Given the description of an element on the screen output the (x, y) to click on. 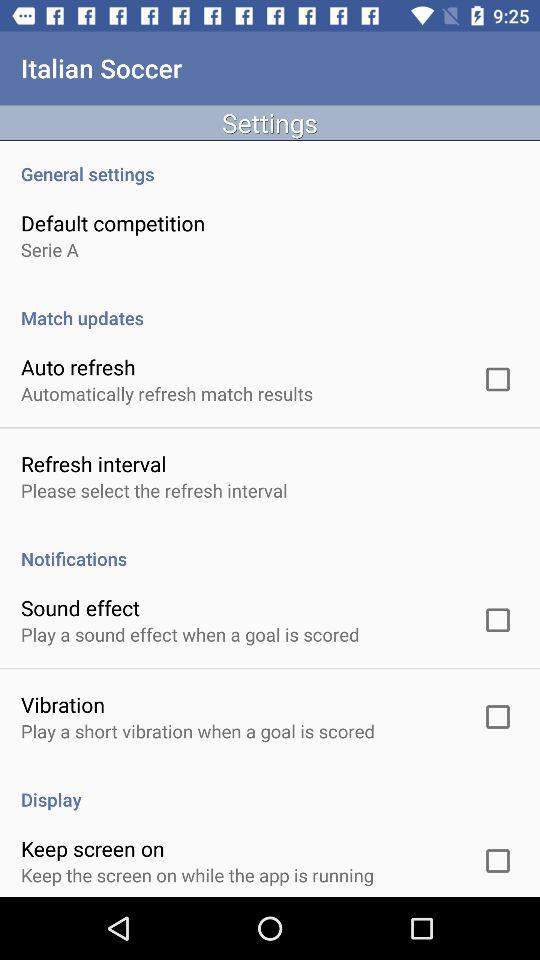
select automatically refresh match item (167, 393)
